Given the description of an element on the screen output the (x, y) to click on. 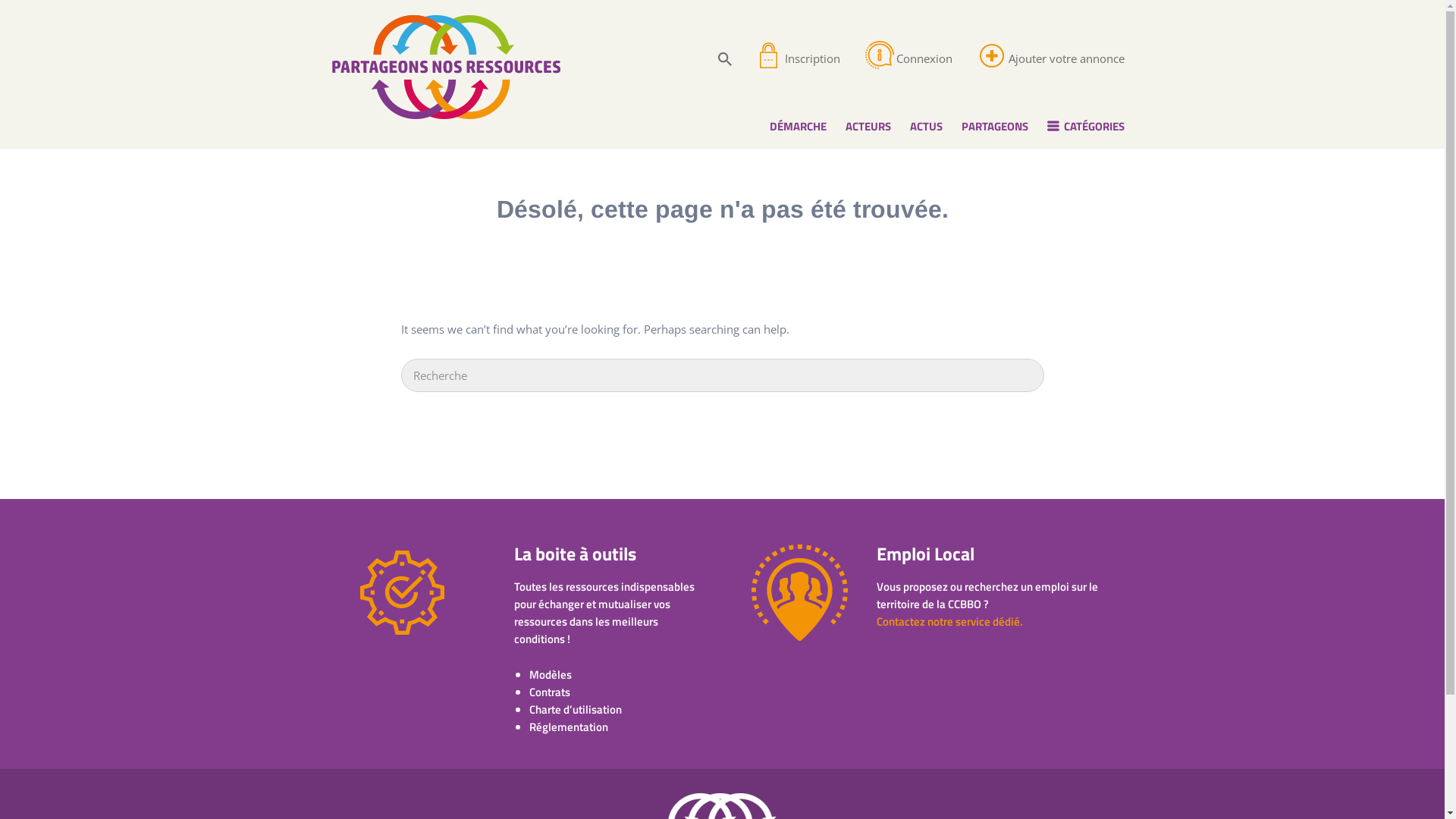
Ajouter votre annonce Element type: text (1066, 58)
ACTUS Element type: text (926, 125)
Rechercher: Element type: hover (721, 375)
Connexion Element type: text (924, 58)
Inscription Element type: text (811, 58)
ACTEURS Element type: text (867, 125)
PARTAGEONS Element type: text (994, 125)
